Given the description of an element on the screen output the (x, y) to click on. 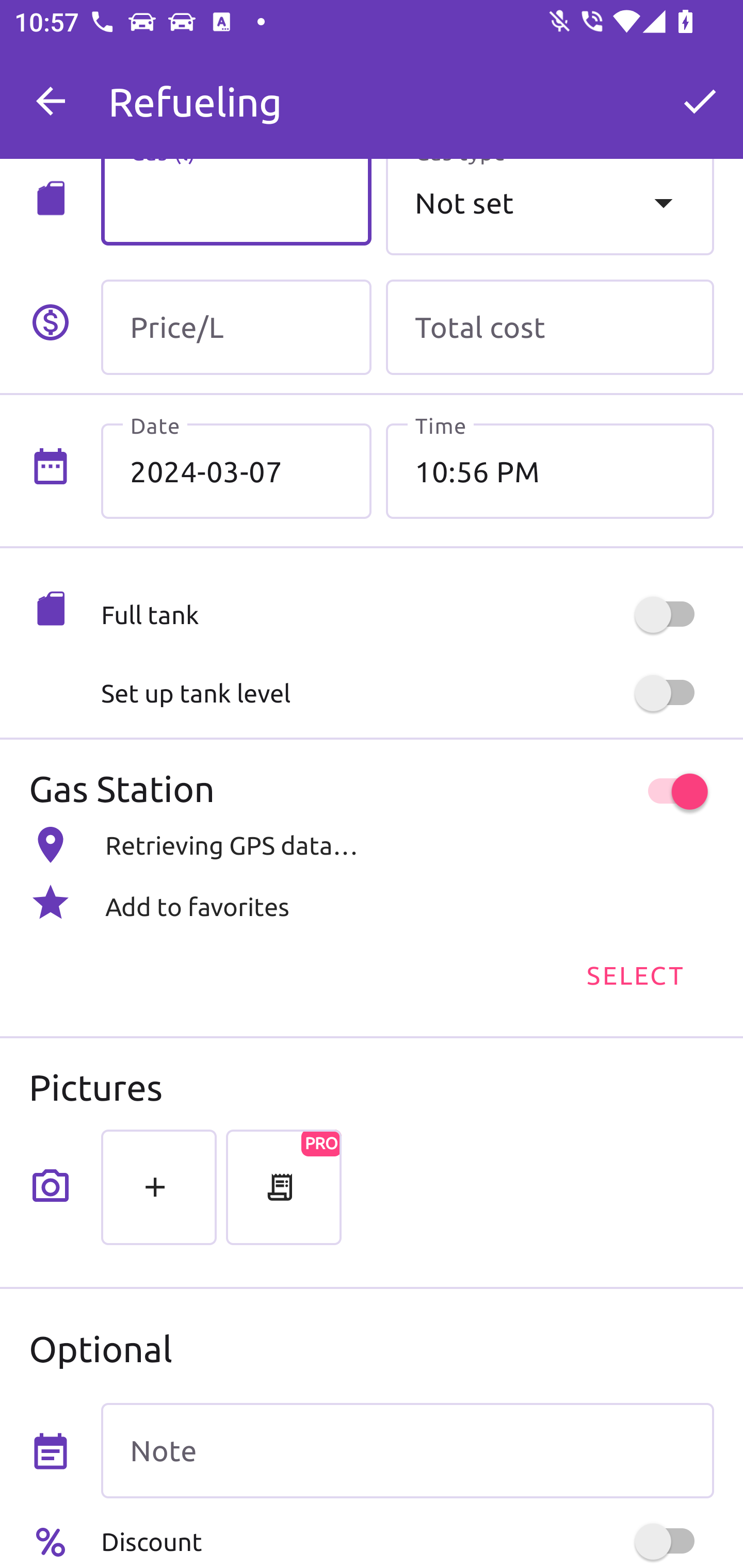
M My Car 0 km (407, 92)
Navigate up (50, 101)
OK (699, 101)
Gas (l) (236, 202)
Not set (549, 206)
Price/L (236, 326)
Total cost  (549, 326)
2024-03-07 (236, 471)
10:56 PM (549, 471)
Full tank (407, 614)
Set up tank level (407, 692)
Add to favorites (371, 902)
SELECT (634, 974)
Note (407, 1451)
Discount (407, 1541)
